Given the description of an element on the screen output the (x, y) to click on. 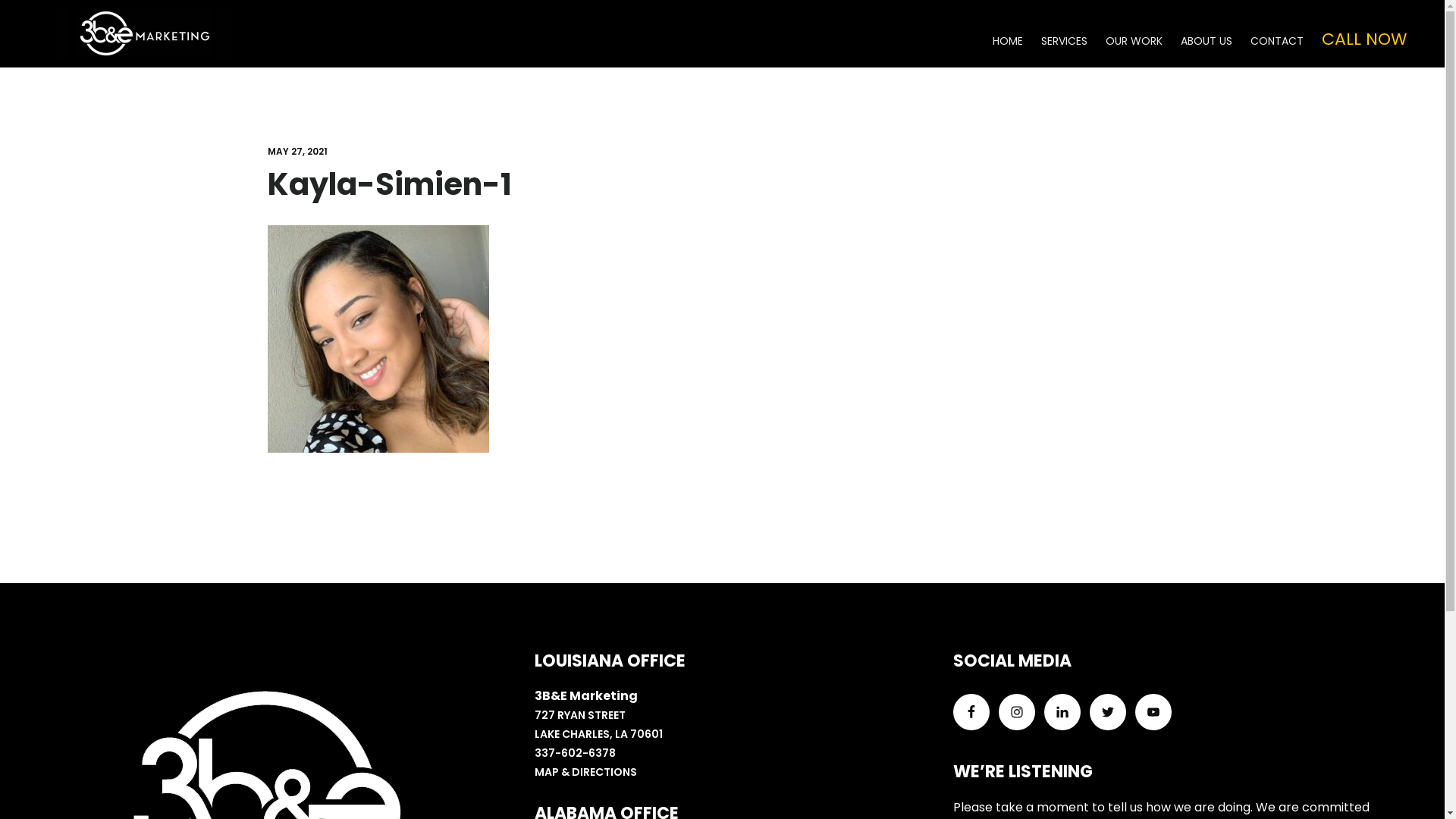
CALL NOW Element type: text (1364, 39)
Skip to main content Element type: text (0, 0)
CONTACT Element type: text (1276, 40)
OUR WORK Element type: text (1134, 40)
HOME Element type: text (1007, 40)
SERVICES Element type: text (1064, 40)
MAP & DIRECTIONS Element type: text (585, 771)
337-602-6378 Element type: text (574, 752)
727 RYAN STREET
LAKE CHARLES, LA 70601 Element type: text (598, 724)
3B&E MARKETING Element type: text (143, 32)
ABOUT US Element type: text (1206, 40)
